Given the description of an element on the screen output the (x, y) to click on. 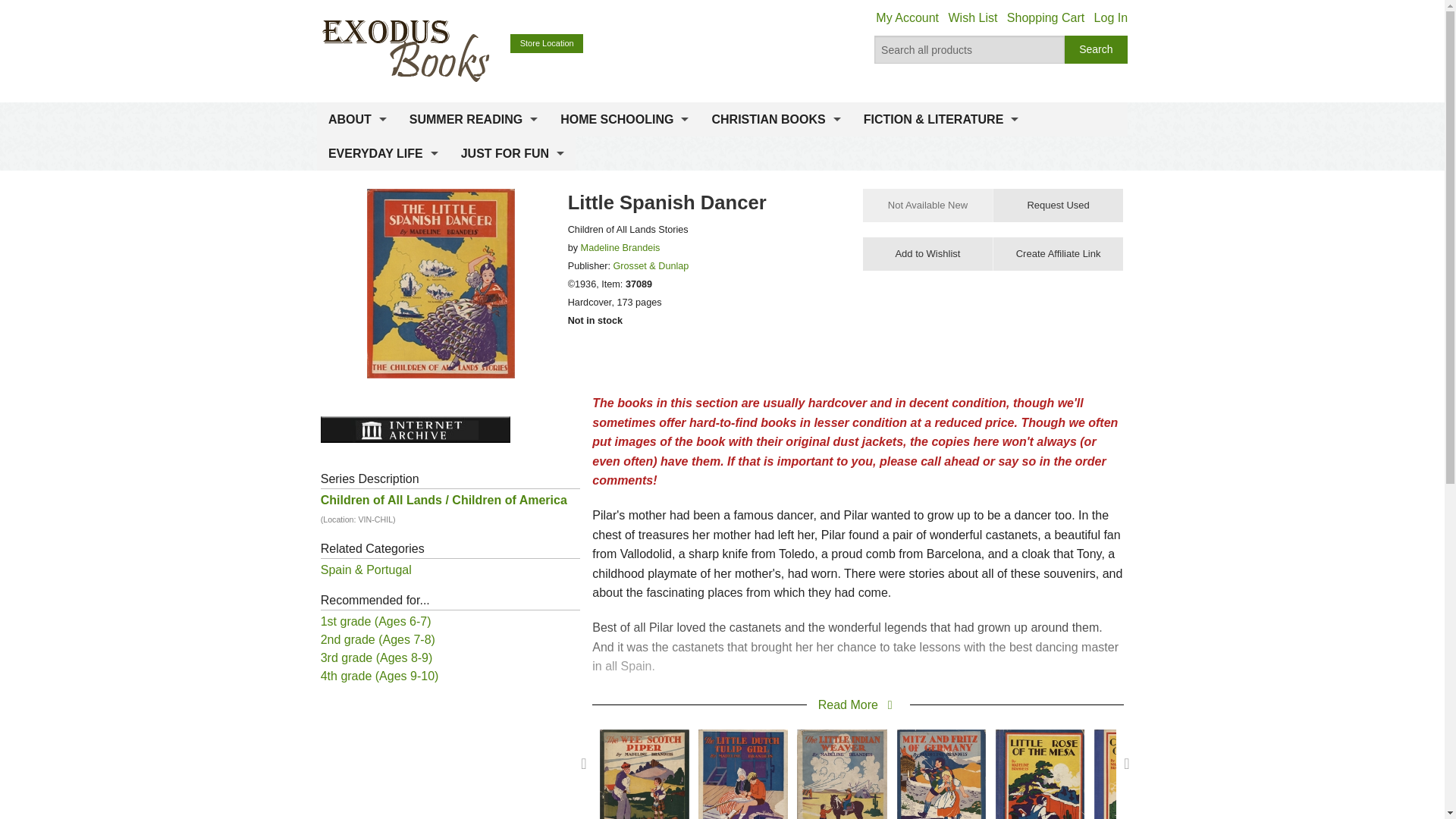
Search (1096, 49)
Add to Wishlist (927, 254)
Store Location (547, 43)
Read the Rules (473, 156)
Search (1096, 49)
Meet Exodus Books (357, 156)
Little Rose of the Mesa (1039, 784)
not available new (927, 205)
Little Dutch Tulip Girl (742, 784)
ABOUT (357, 119)
HOME SCHOOLING (624, 119)
Little John of New England (1237, 784)
Wish List (972, 17)
Mitz and Fritz of Germany (940, 784)
My Account (907, 17)
